Given the description of an element on the screen output the (x, y) to click on. 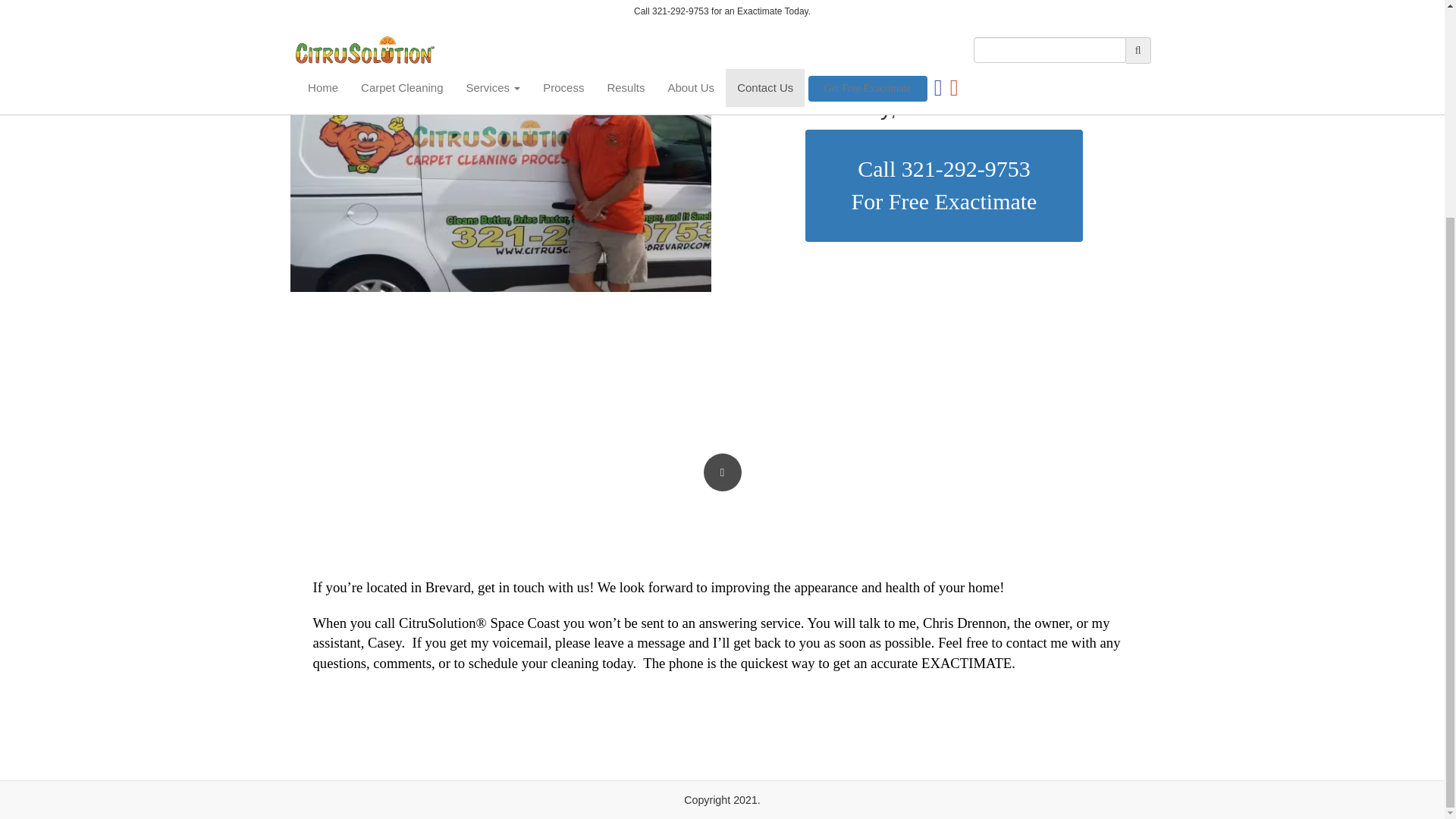
Casey (944, 185)
Chris Drennon (384, 642)
